Given the description of an element on the screen output the (x, y) to click on. 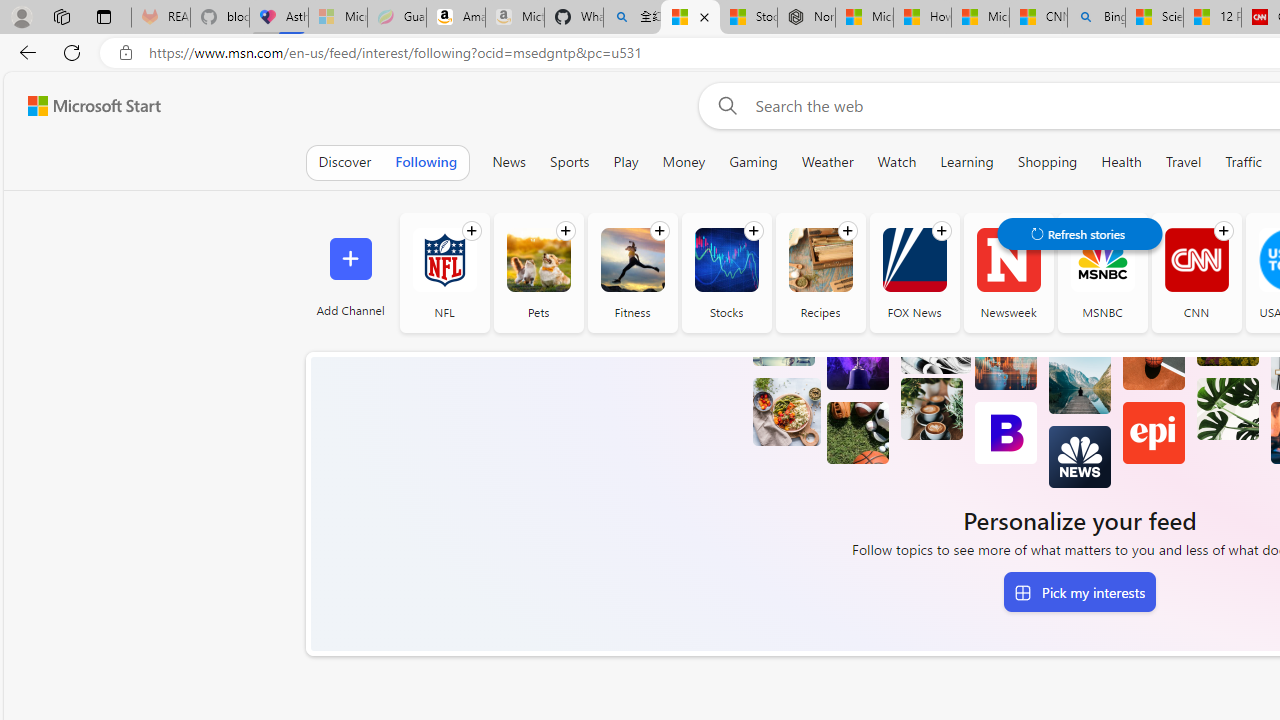
Pets (537, 260)
Travel (1183, 162)
Skip to content (86, 105)
CNN - MSN (1038, 17)
Play (625, 161)
Shopping (1047, 161)
MSNBC (1102, 272)
Watch (897, 162)
MSNBC (1102, 260)
Asthma Inhalers: Names and Types (278, 17)
Traffic (1243, 161)
